Given the description of an element on the screen output the (x, y) to click on. 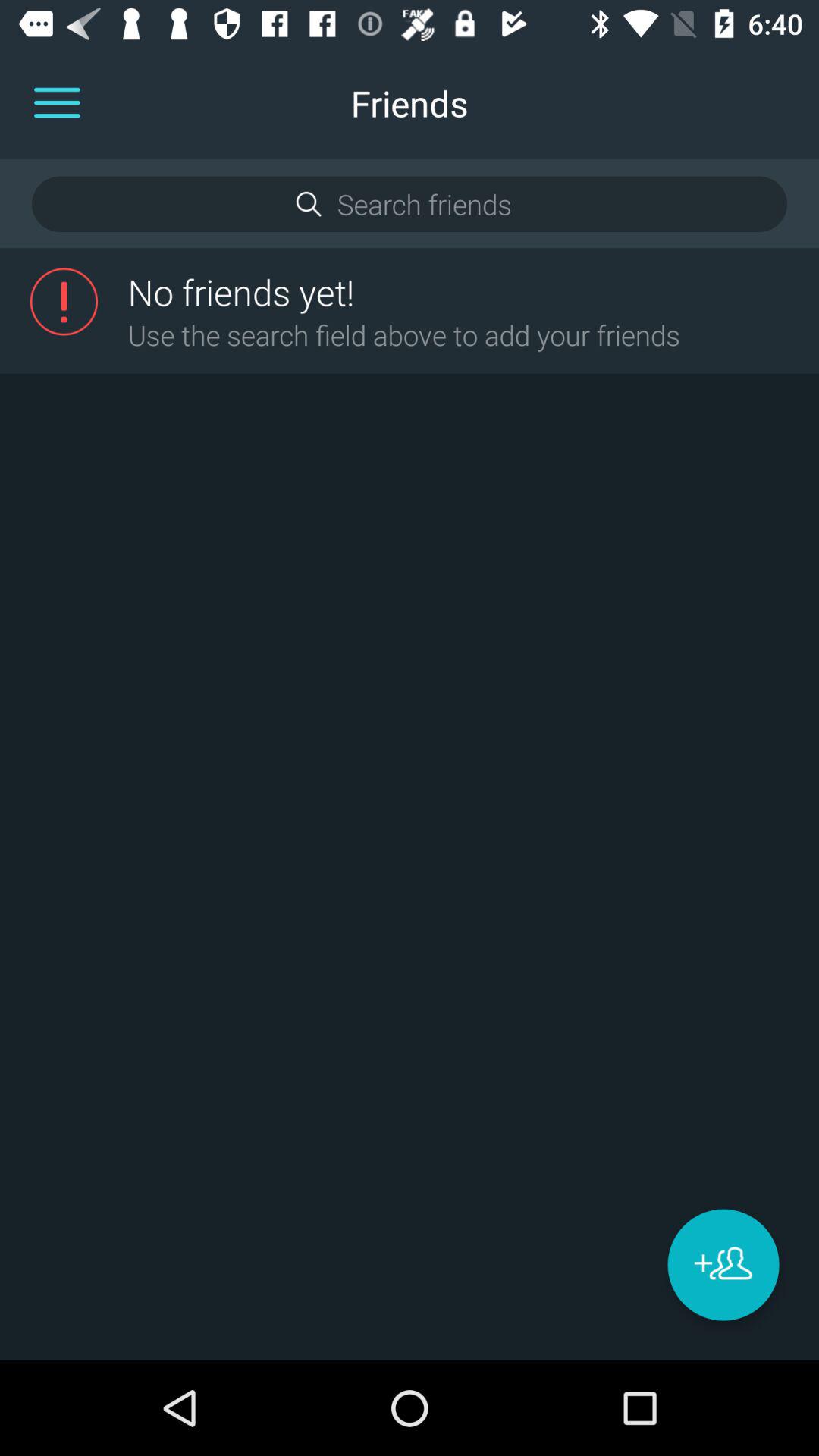
add friend (723, 1264)
